Given the description of an element on the screen output the (x, y) to click on. 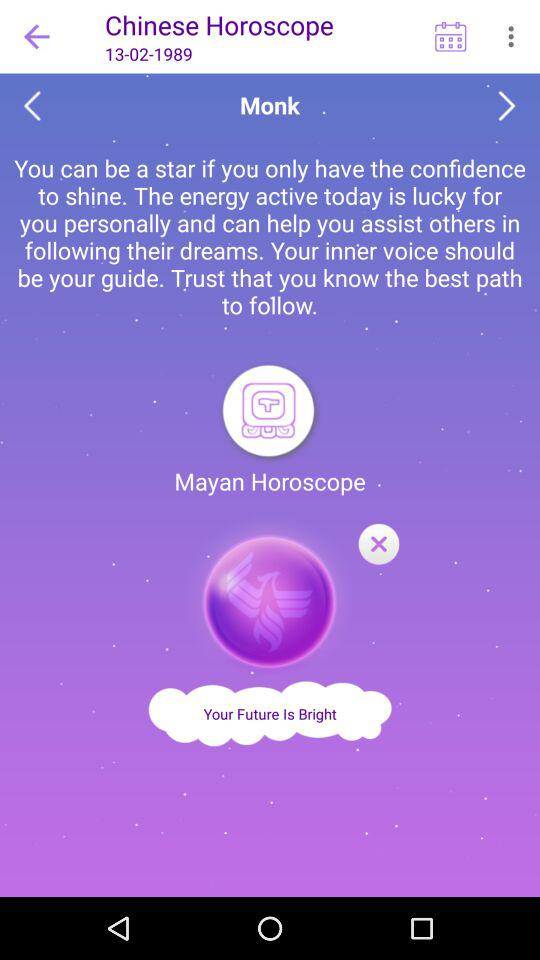
close forecast (378, 545)
